Given the description of an element on the screen output the (x, y) to click on. 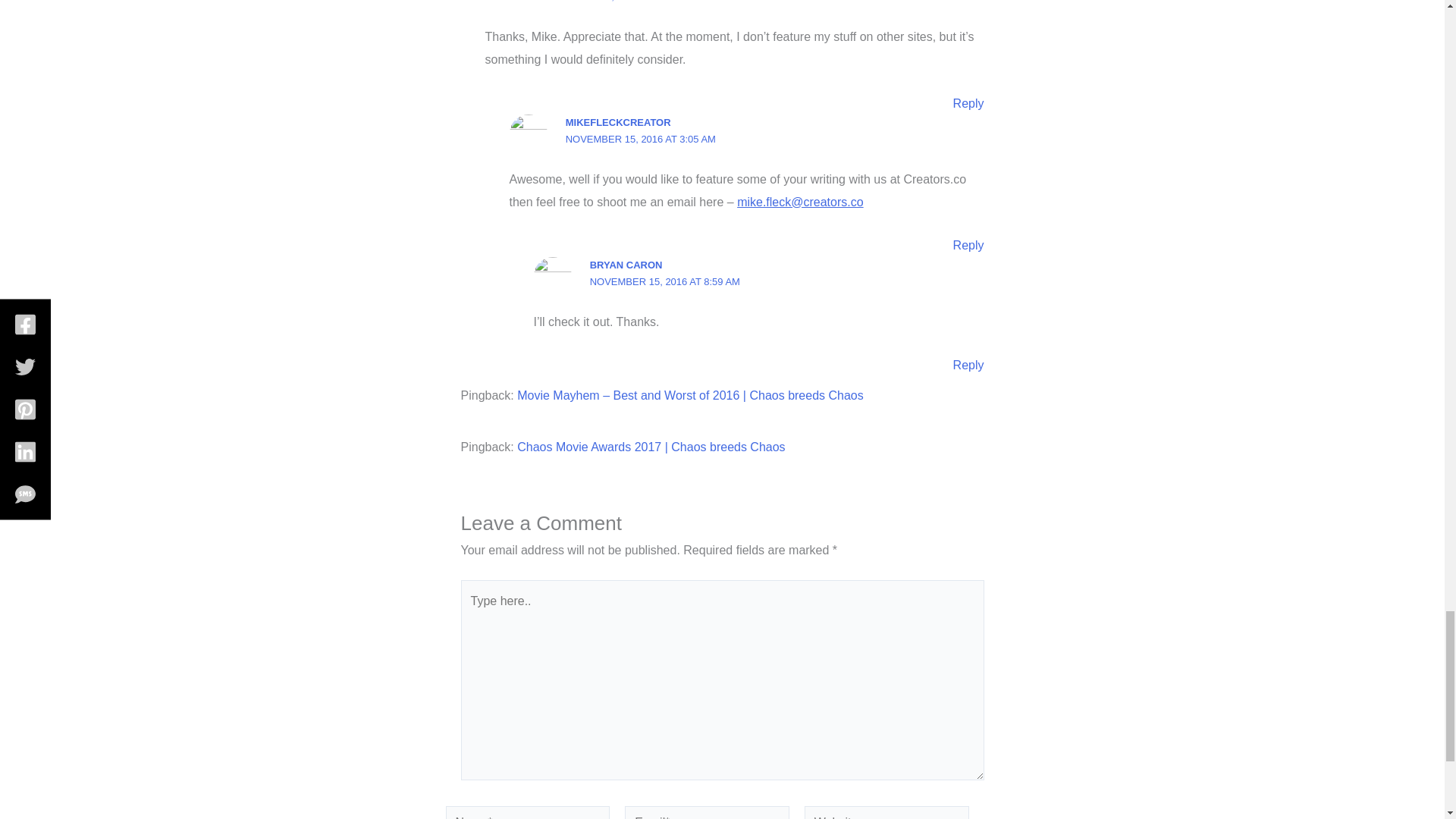
NOVEMBER 14, 2016 AT 8:44 AM (616, 1)
Reply (968, 103)
MIKEFLECKCREATOR (618, 122)
